Given the description of an element on the screen output the (x, y) to click on. 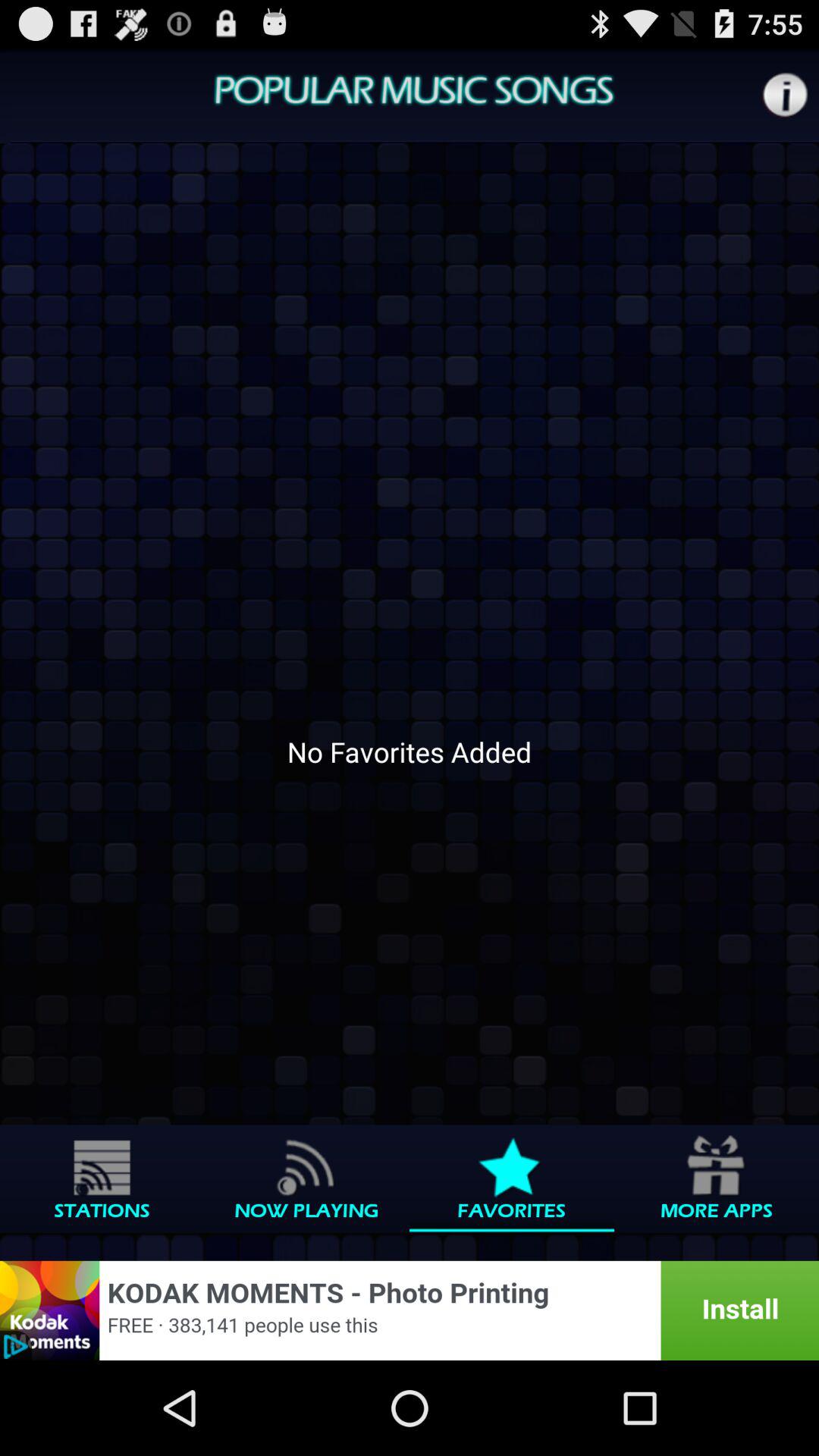
advertisement (409, 1310)
